Given the description of an element on the screen output the (x, y) to click on. 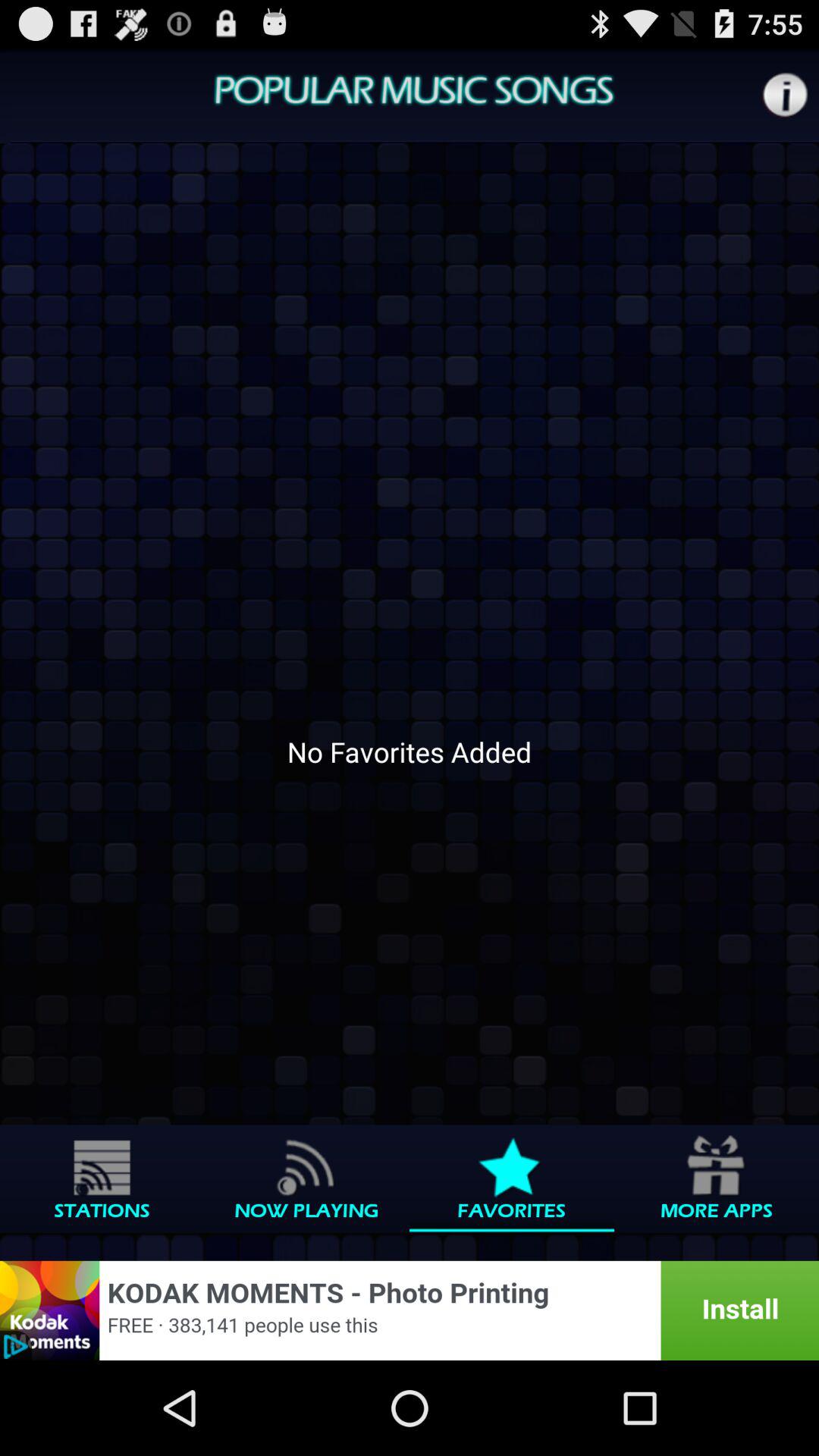
advertisement (409, 1310)
